Given the description of an element on the screen output the (x, y) to click on. 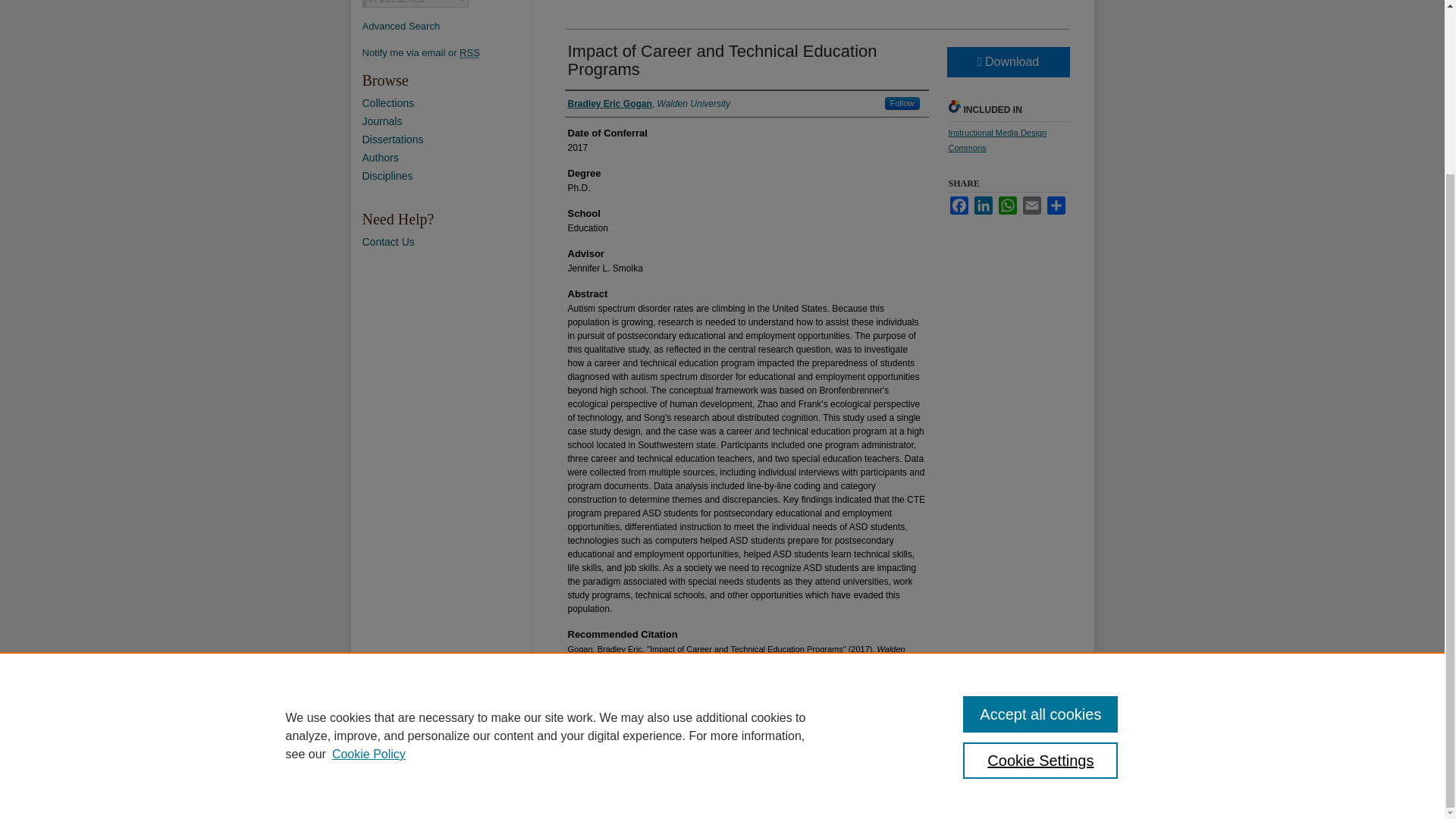
Download (1007, 61)
Share (1055, 205)
Email or RSS Notifications (447, 52)
Instructional Media Design Commons (996, 139)
WhatsApp (1006, 205)
Impact of Career and Technical Education Programs (721, 59)
Really Simple Syndication (470, 52)
Instructional Media Design Commons (996, 139)
Journals (447, 121)
Browse by Collections (447, 102)
Facebook (958, 205)
Email (1031, 205)
Bradley Eric Gogan, Walden University (648, 103)
Disciplines (447, 175)
LinkedIn (982, 205)
